Given the description of an element on the screen output the (x, y) to click on. 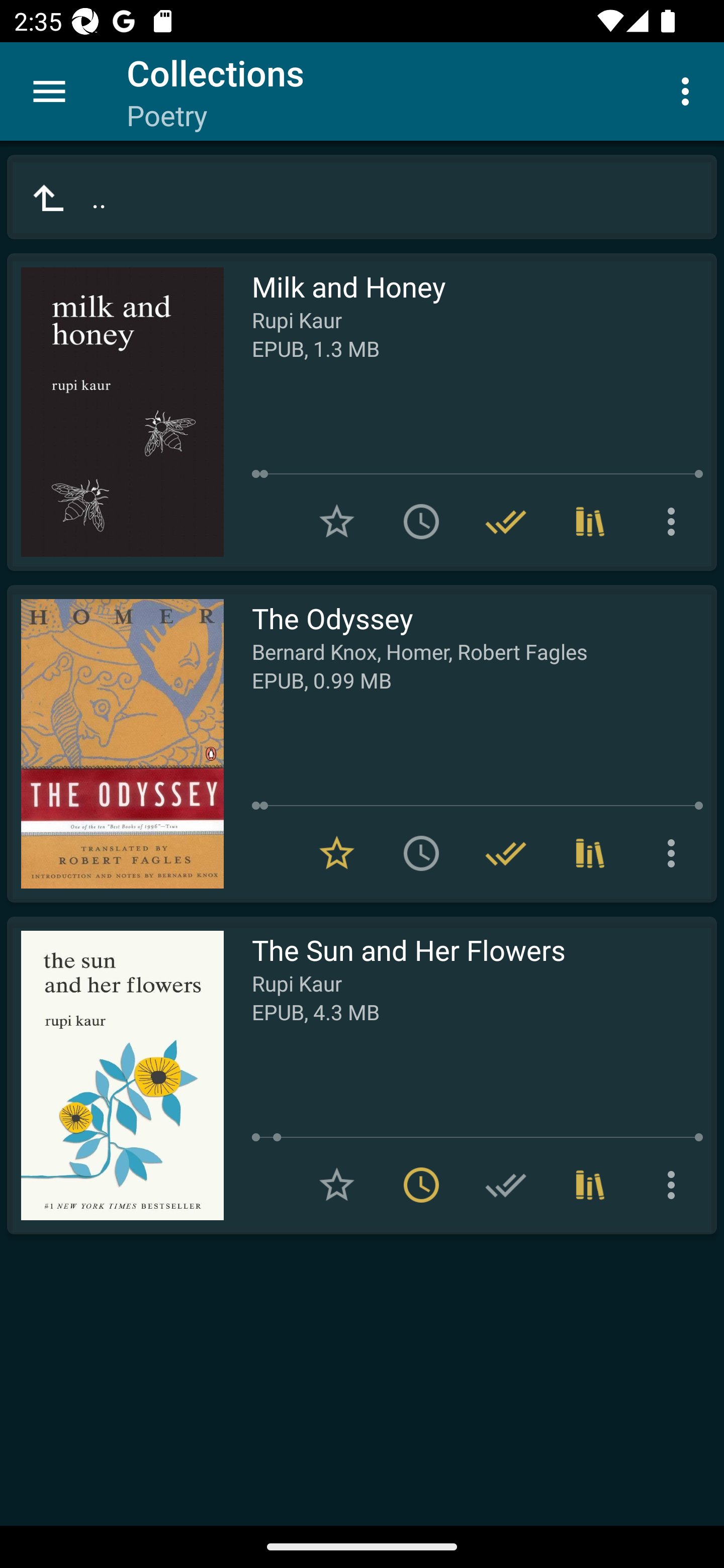
Menu (49, 91)
More options (688, 90)
.. (361, 197)
Read Milk and Honey (115, 412)
Add to Favorites (336, 521)
Add to To read (421, 521)
Remove from Have read (505, 521)
Collections (4) (590, 521)
More options (674, 521)
Read The Odyssey (115, 743)
Remove from Favorites (336, 852)
Add to To read (421, 852)
Remove from Have read (505, 852)
Collections (3) (590, 852)
More options (674, 852)
Read The Sun and Her Flowers (115, 1075)
Add to Favorites (336, 1185)
Remove from To read (421, 1185)
Add to Have read (505, 1185)
Collections (1) (590, 1185)
More options (674, 1185)
